Given the description of an element on the screen output the (x, y) to click on. 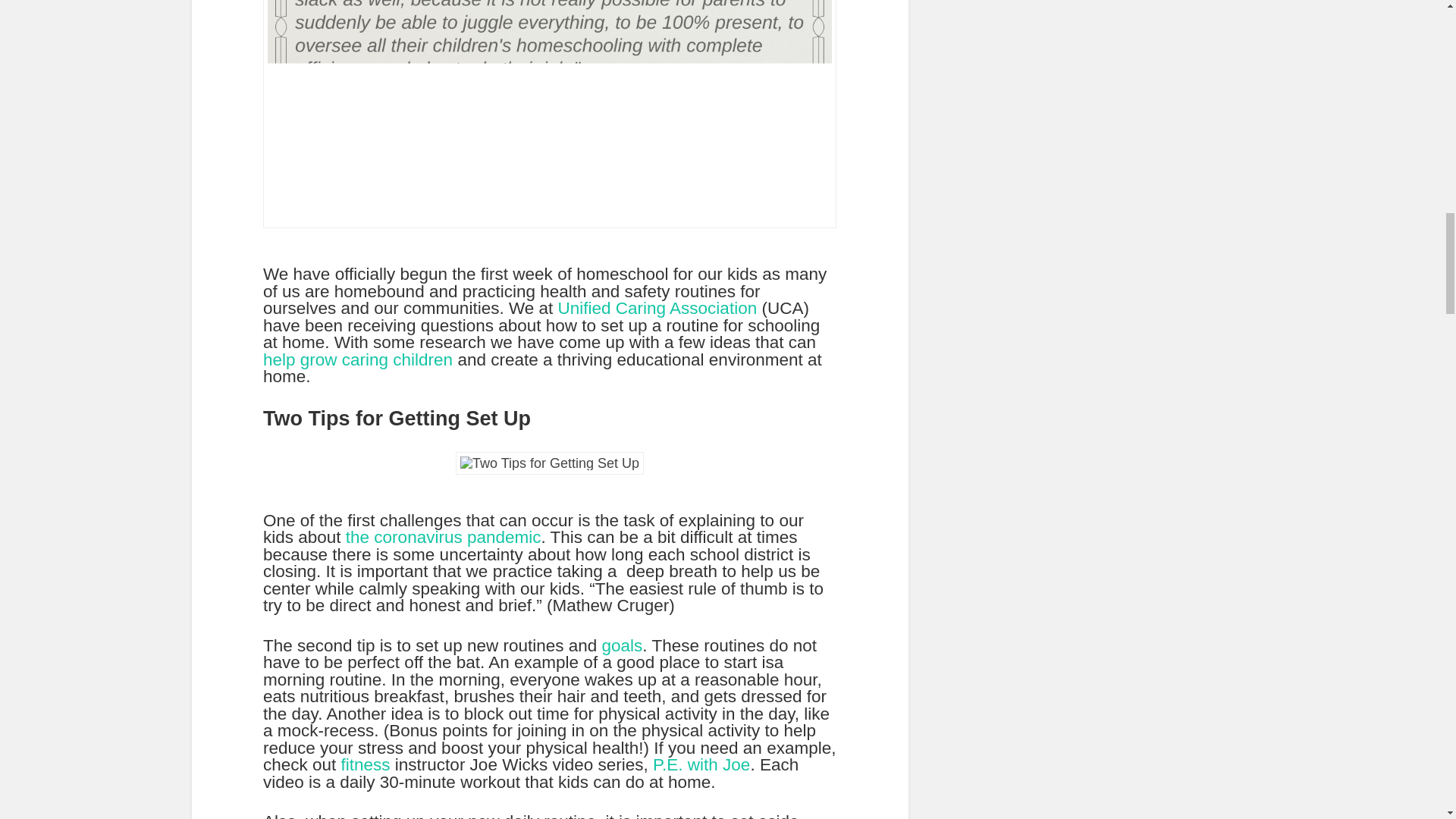
Unified Caring Association (659, 307)
goals (622, 645)
P.E. with Joe (700, 764)
help grow caring children (357, 359)
the coronavirus pandemic (440, 537)
fitness (367, 764)
